Given the description of an element on the screen output the (x, y) to click on. 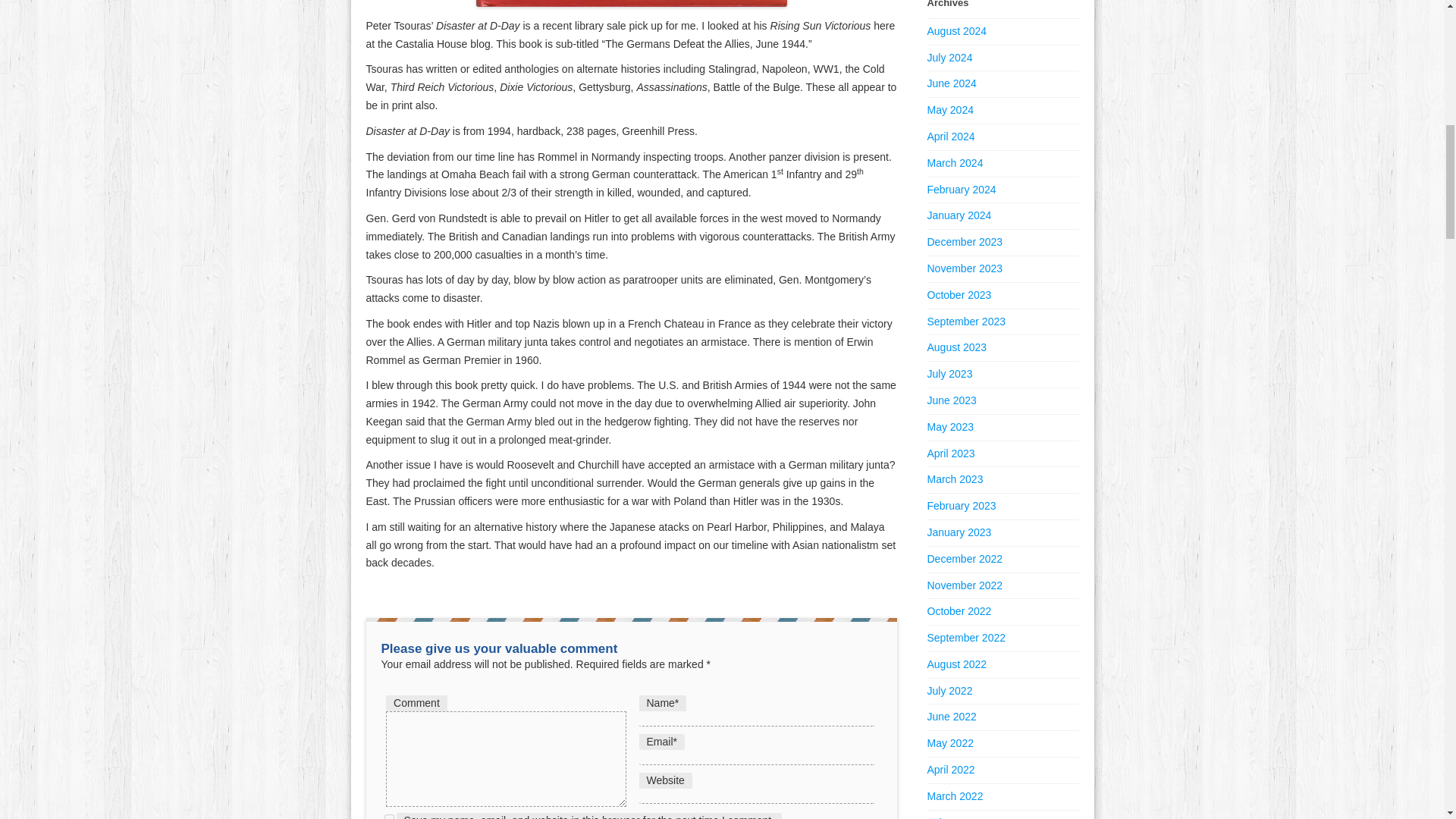
yes (388, 816)
May 2024 (949, 110)
April 2024 (950, 136)
August 2024 (956, 30)
December 2023 (964, 241)
March 2024 (954, 162)
January 2024 (958, 215)
February 2024 (960, 189)
October 2023 (958, 295)
June 2024 (950, 82)
